Given the description of an element on the screen output the (x, y) to click on. 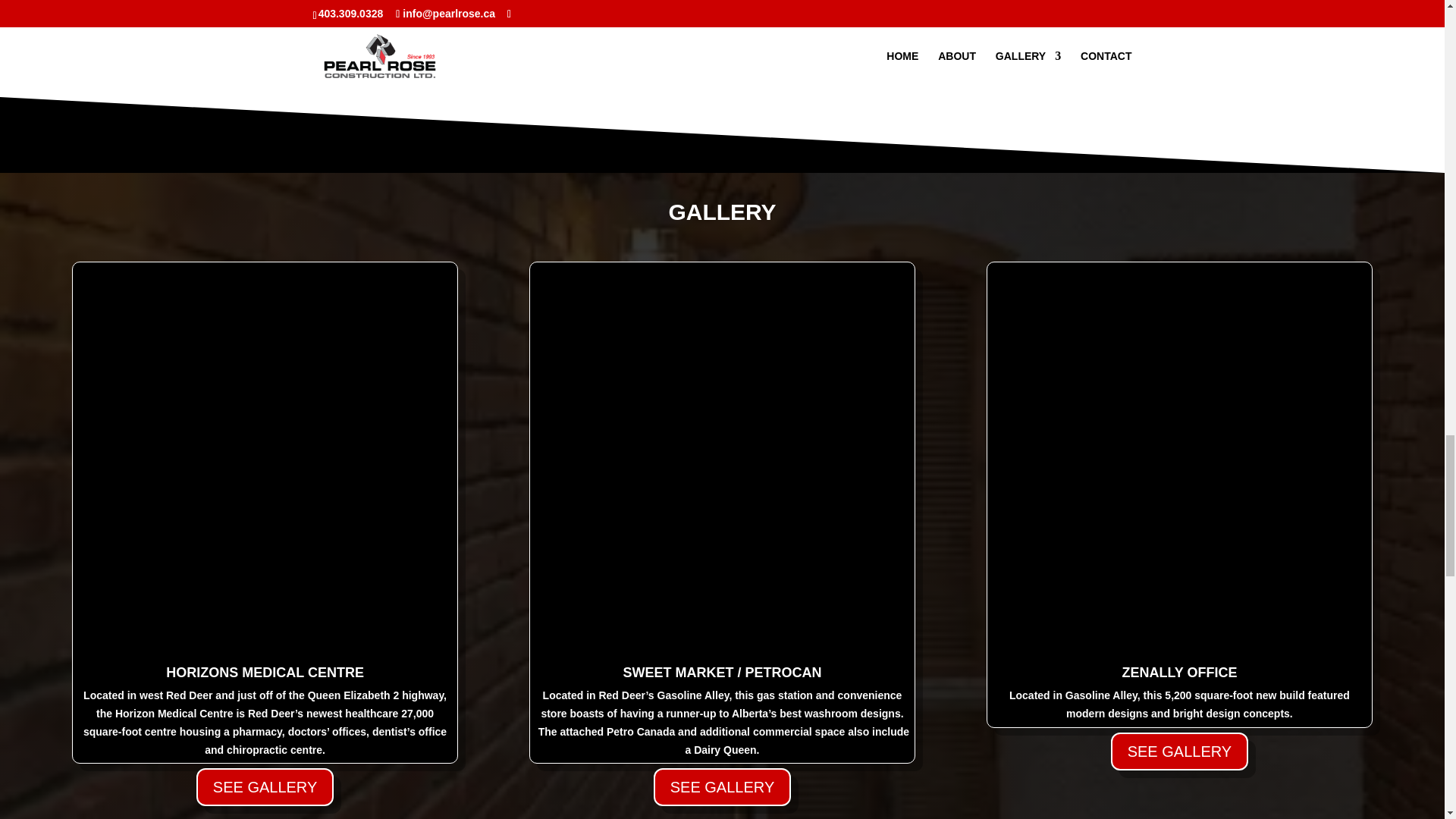
Perry-Cruickshank (398, 67)
red-deer-county (829, 67)
SEE GALLERY (264, 786)
SEE GALLERY (1178, 751)
Red-Deer-Catholic (613, 67)
SEE GALLERY (721, 786)
